Given the description of an element on the screen output the (x, y) to click on. 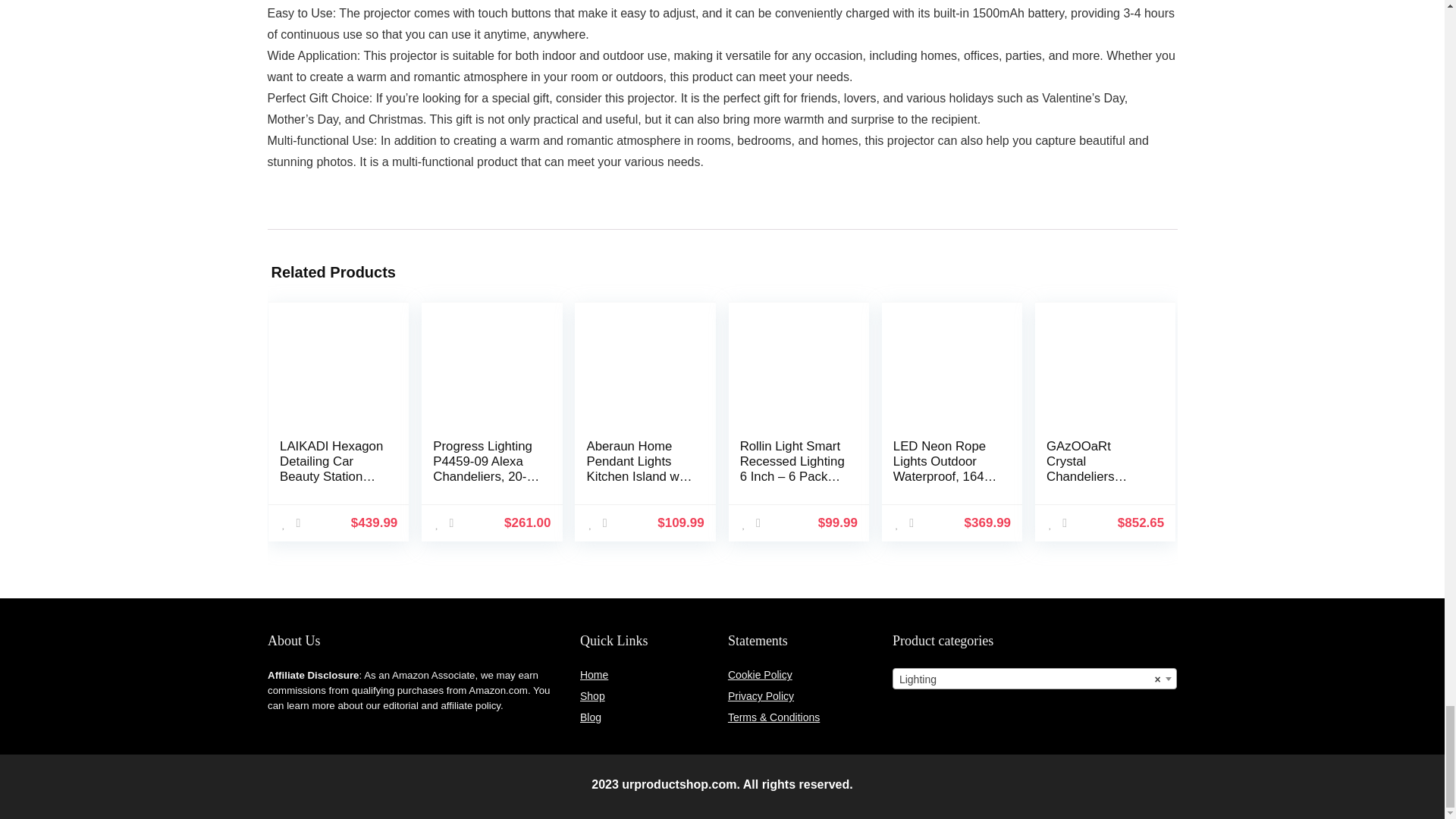
Lighting (1034, 679)
